Given the description of an element on the screen output the (x, y) to click on. 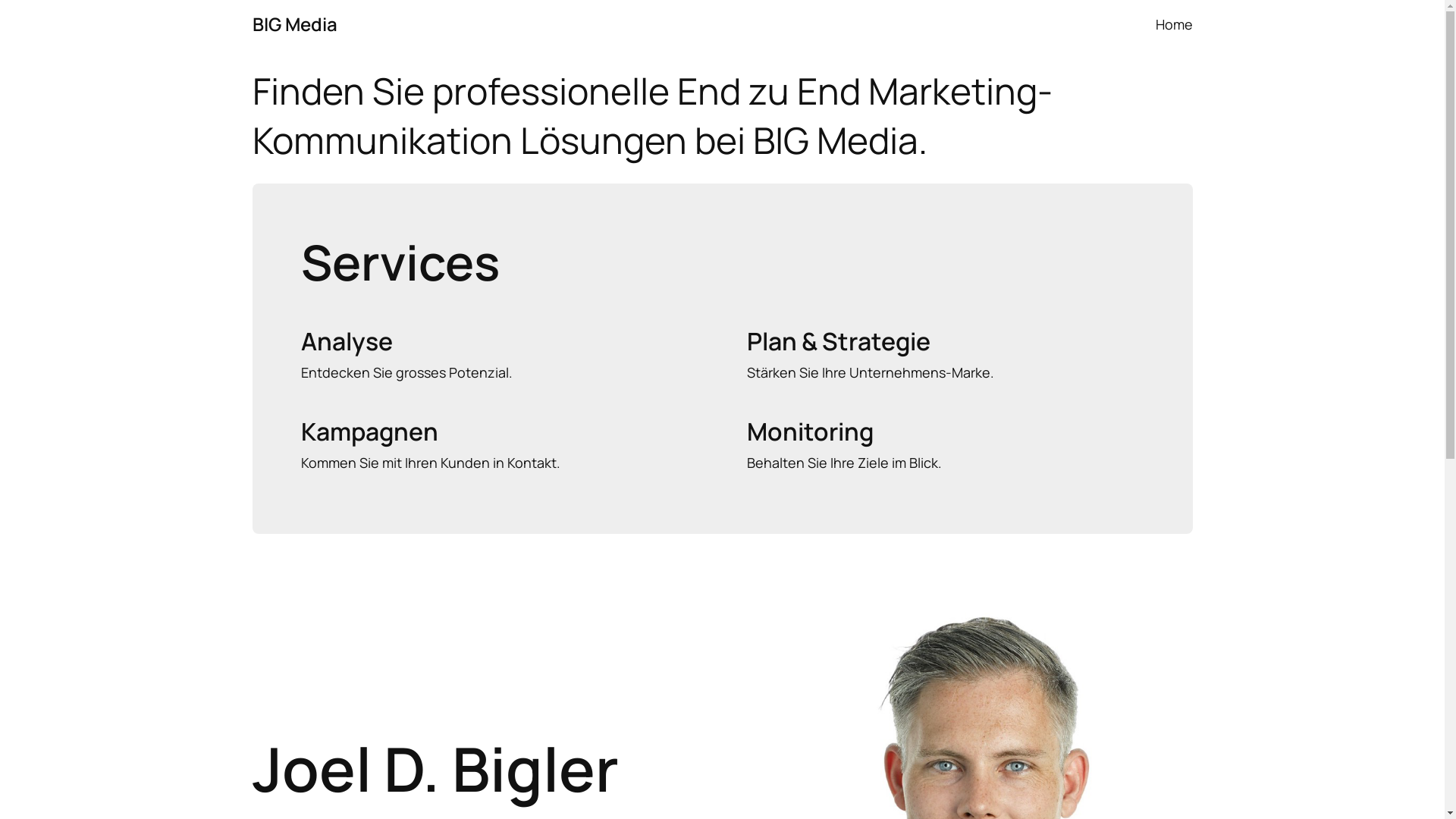
BIG Media Element type: text (293, 23)
Home Element type: text (1173, 24)
